Given the description of an element on the screen output the (x, y) to click on. 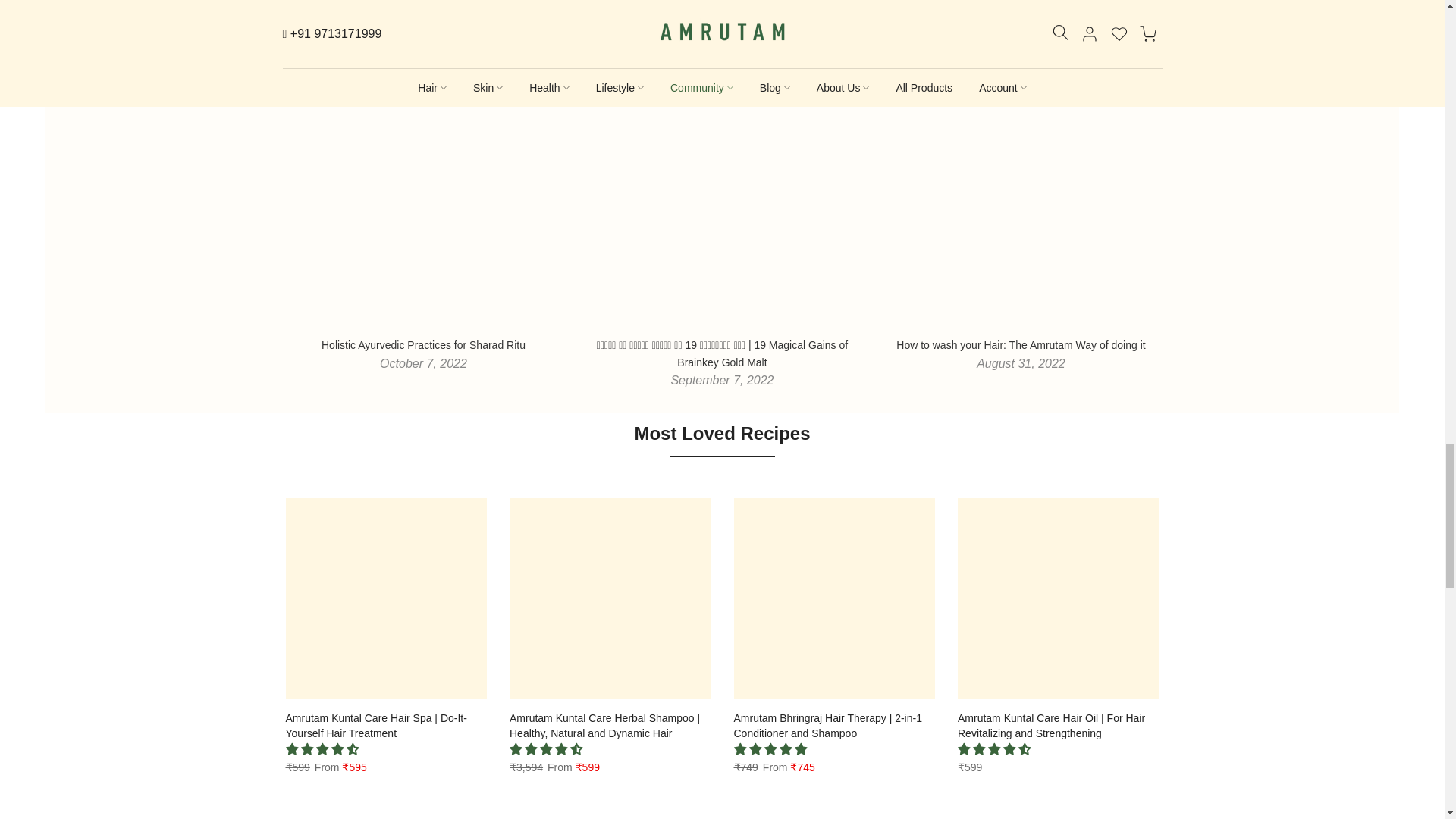
Holistic Ayurvedic Practices for Sharad Ritu (423, 345)
Share on Tumblr (721, 18)
Share on WhatsApp (849, 18)
Share on Twitter (636, 18)
Share on Facebook (594, 18)
Share on Pinterest (679, 18)
Share on Telegram (764, 18)
Share on Email (807, 18)
How to wash your Hair: The Amrutam Way of doing it (1020, 345)
